Given the description of an element on the screen output the (x, y) to click on. 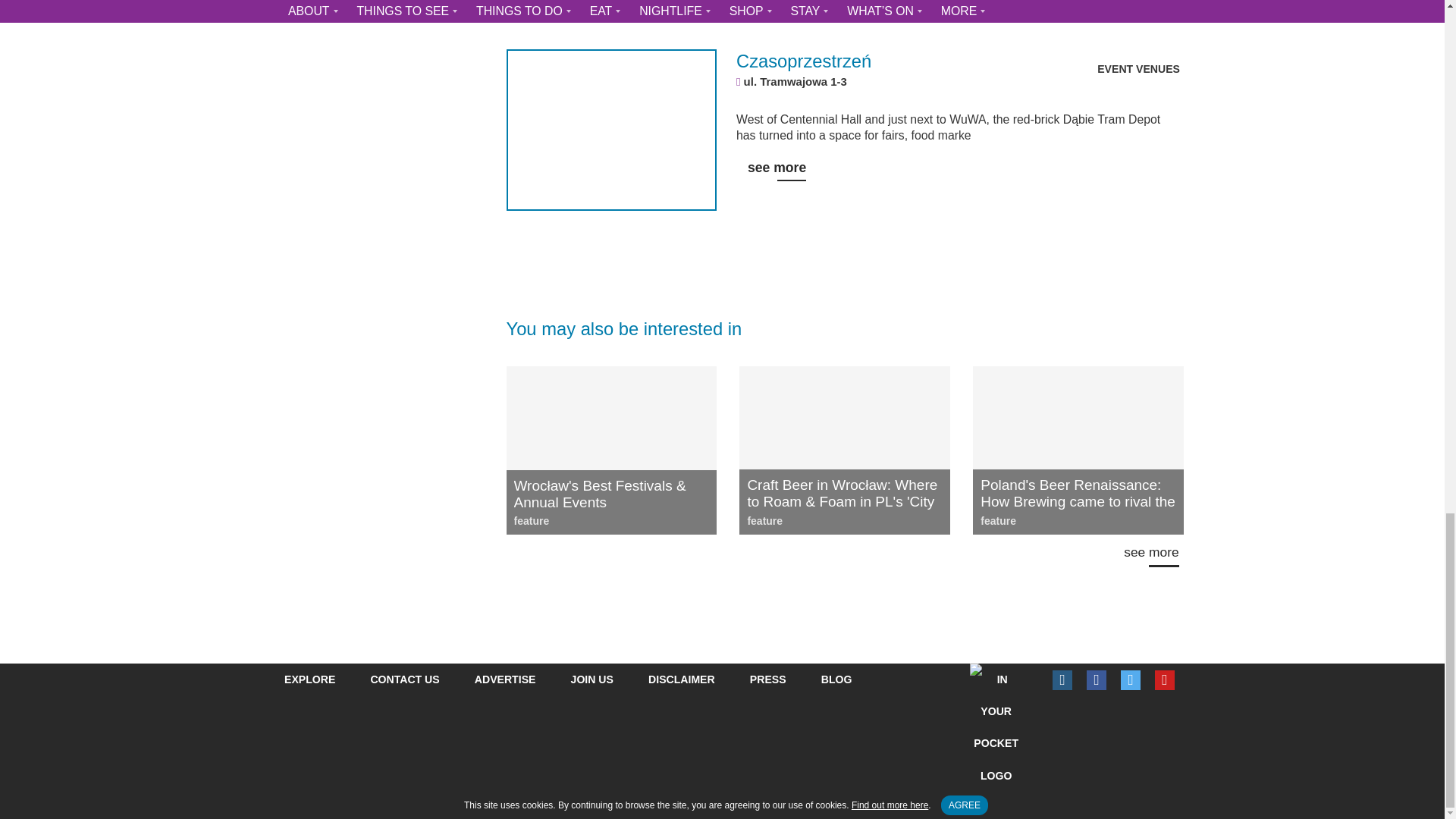
Toggle fullscreen (37, 802)
Share (21, 802)
